Given the description of an element on the screen output the (x, y) to click on. 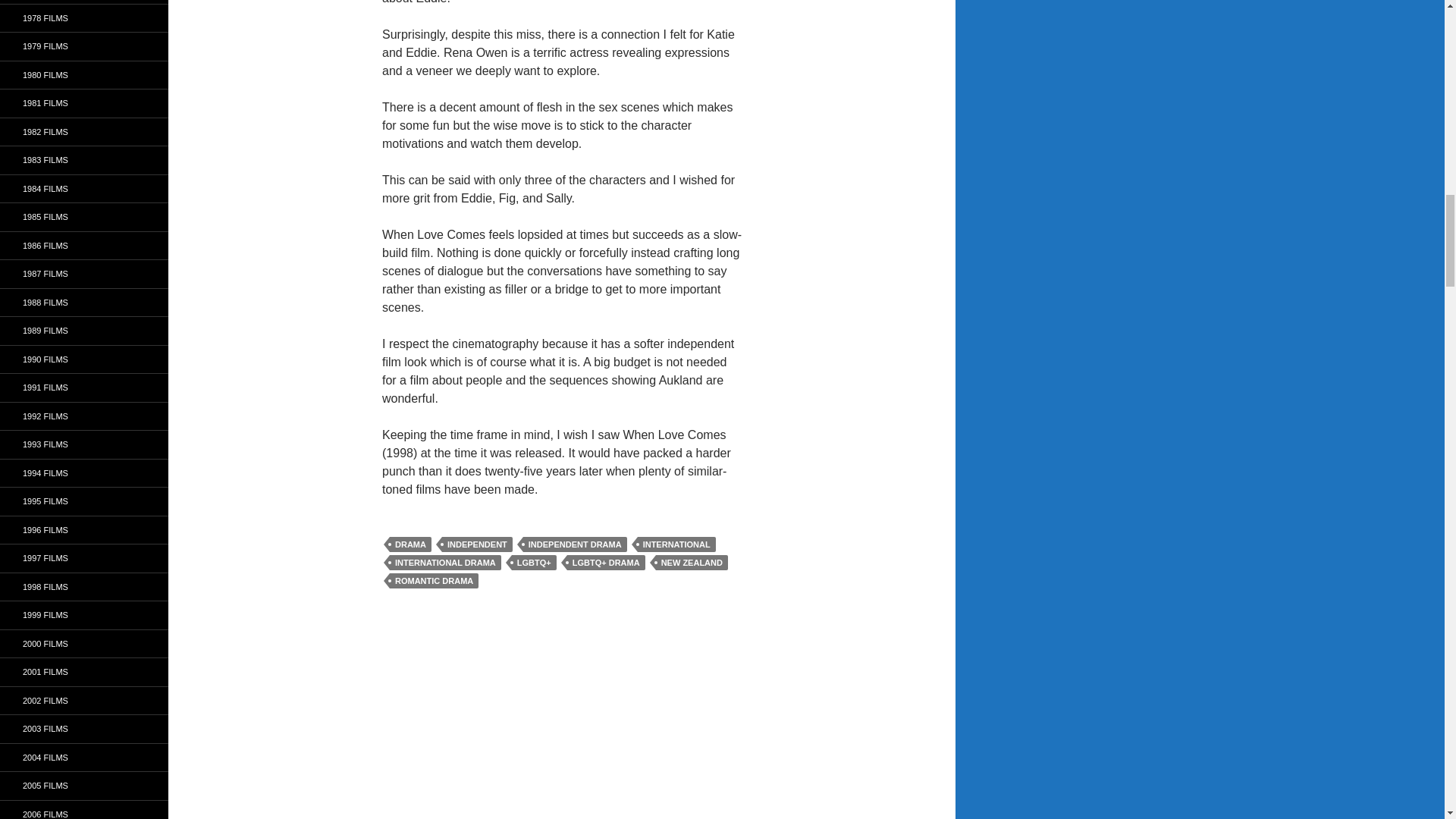
DRAMA (410, 544)
NEW ZEALAND (692, 562)
INDEPENDENT (477, 544)
INTERNATIONAL (676, 544)
INTERNATIONAL DRAMA (445, 562)
ROMANTIC DRAMA (434, 580)
INDEPENDENT DRAMA (574, 544)
